Given the description of an element on the screen output the (x, y) to click on. 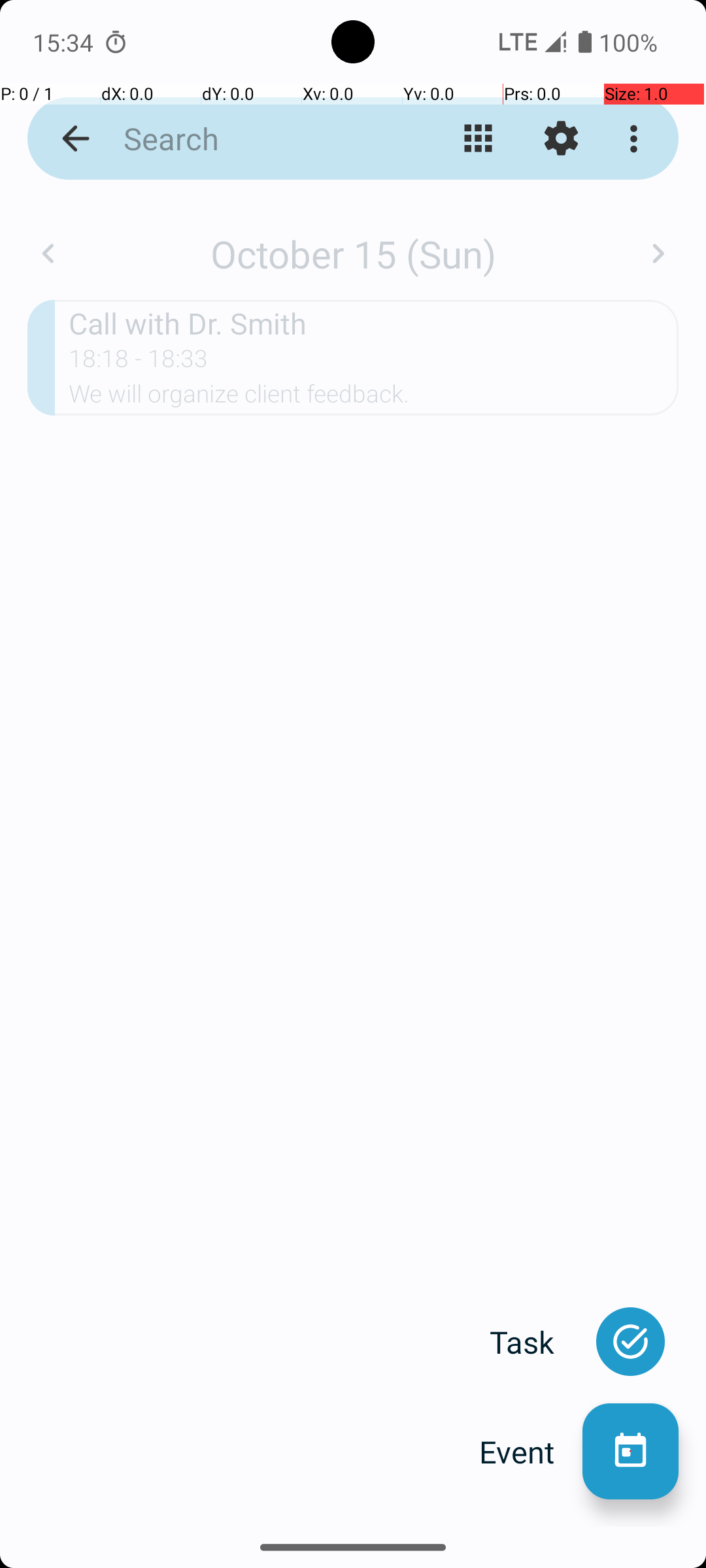
December Element type: android.widget.TextView (352, 239)
18:18 - 18:33 Element type: android.widget.TextView (137, 362)
We will organize client feedback. Element type: android.widget.TextView (373, 397)
